Given the description of an element on the screen output the (x, y) to click on. 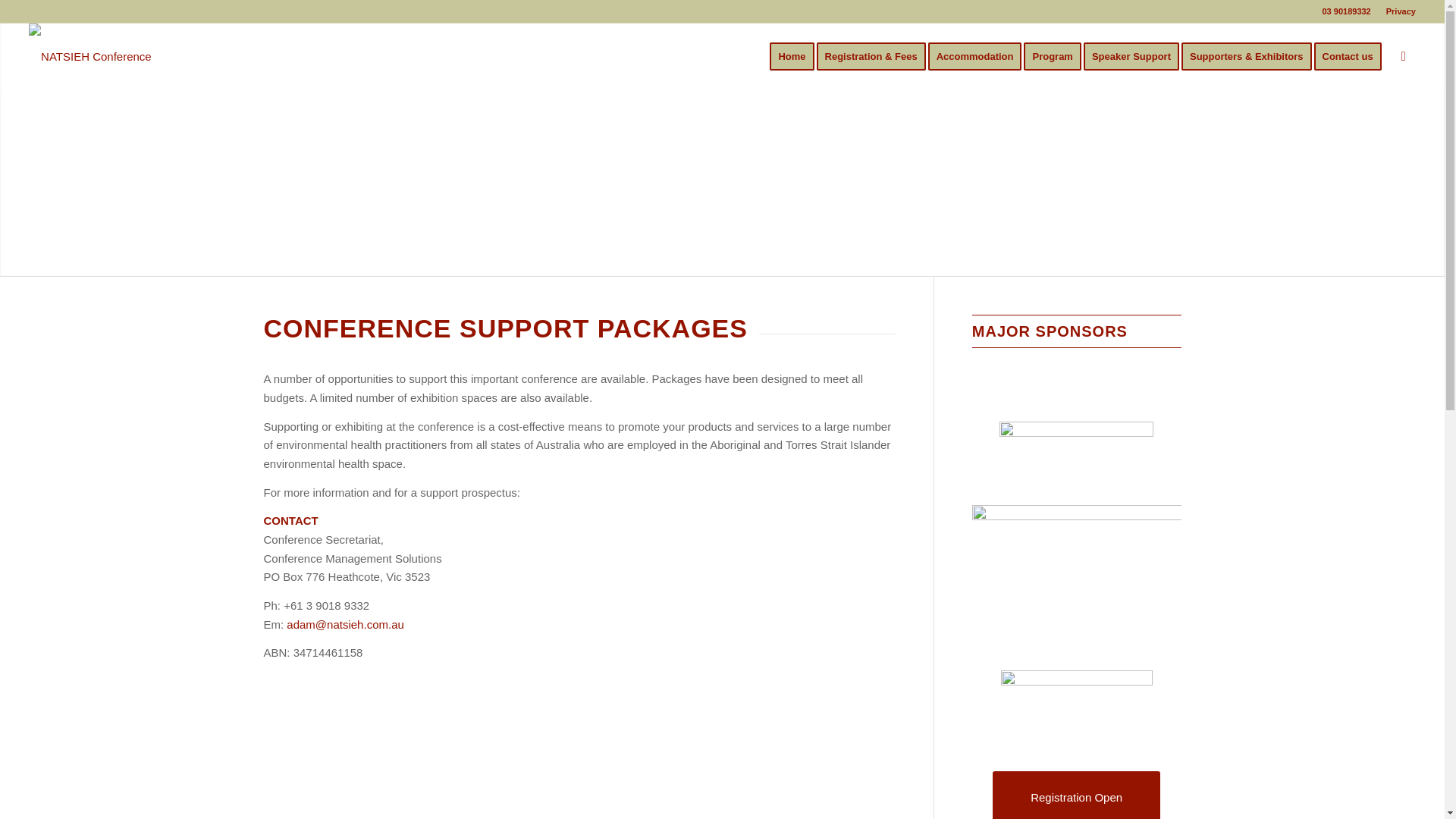
Accommodation (980, 56)
Speaker Support (1136, 56)
Privacy (1400, 11)
Program (1056, 56)
Contact us (1351, 56)
Home (792, 56)
